Given the description of an element on the screen output the (x, y) to click on. 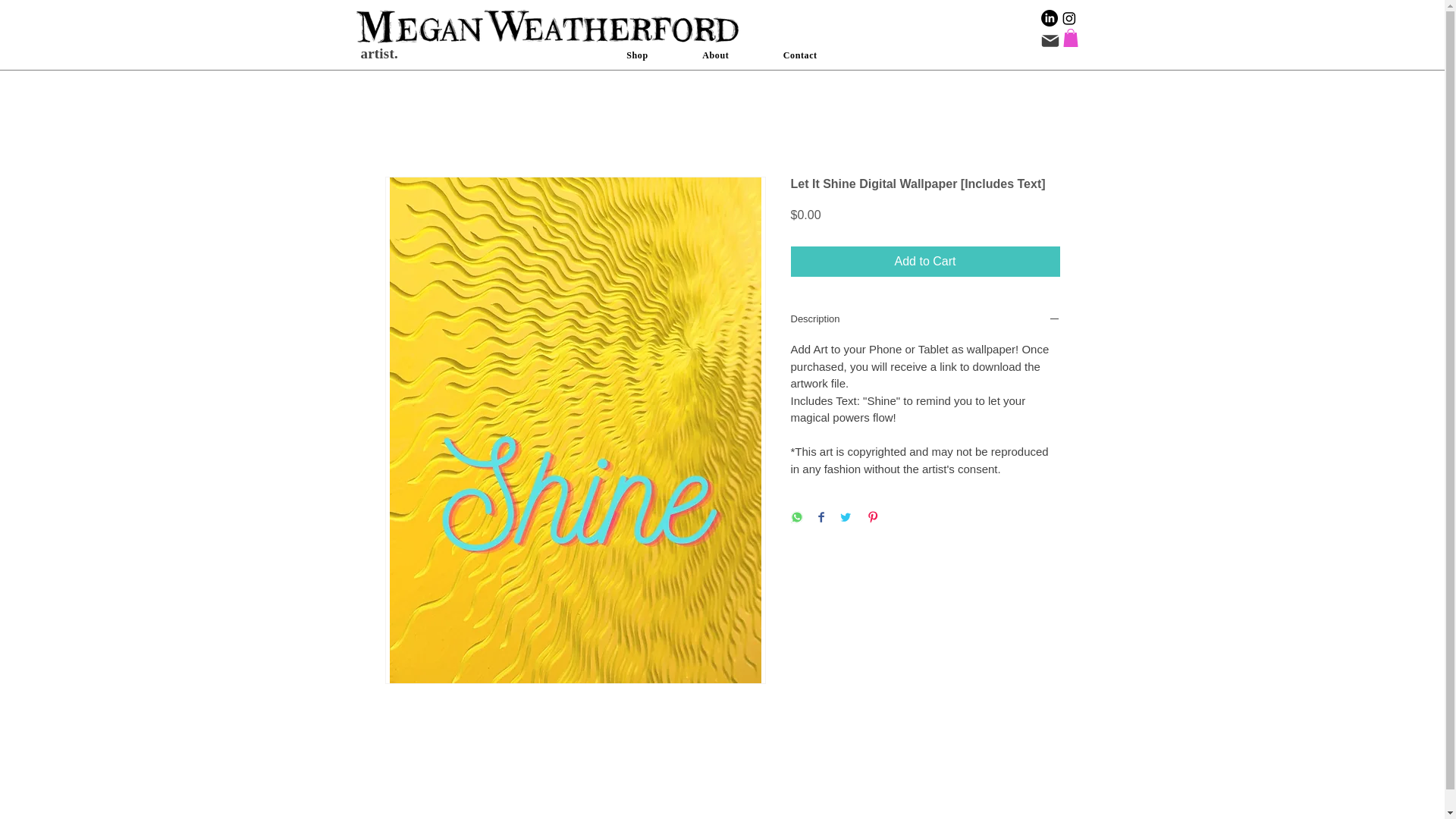
Description (924, 320)
About (715, 55)
Add to Cart (924, 261)
Contact (799, 55)
